Given the description of an element on the screen output the (x, y) to click on. 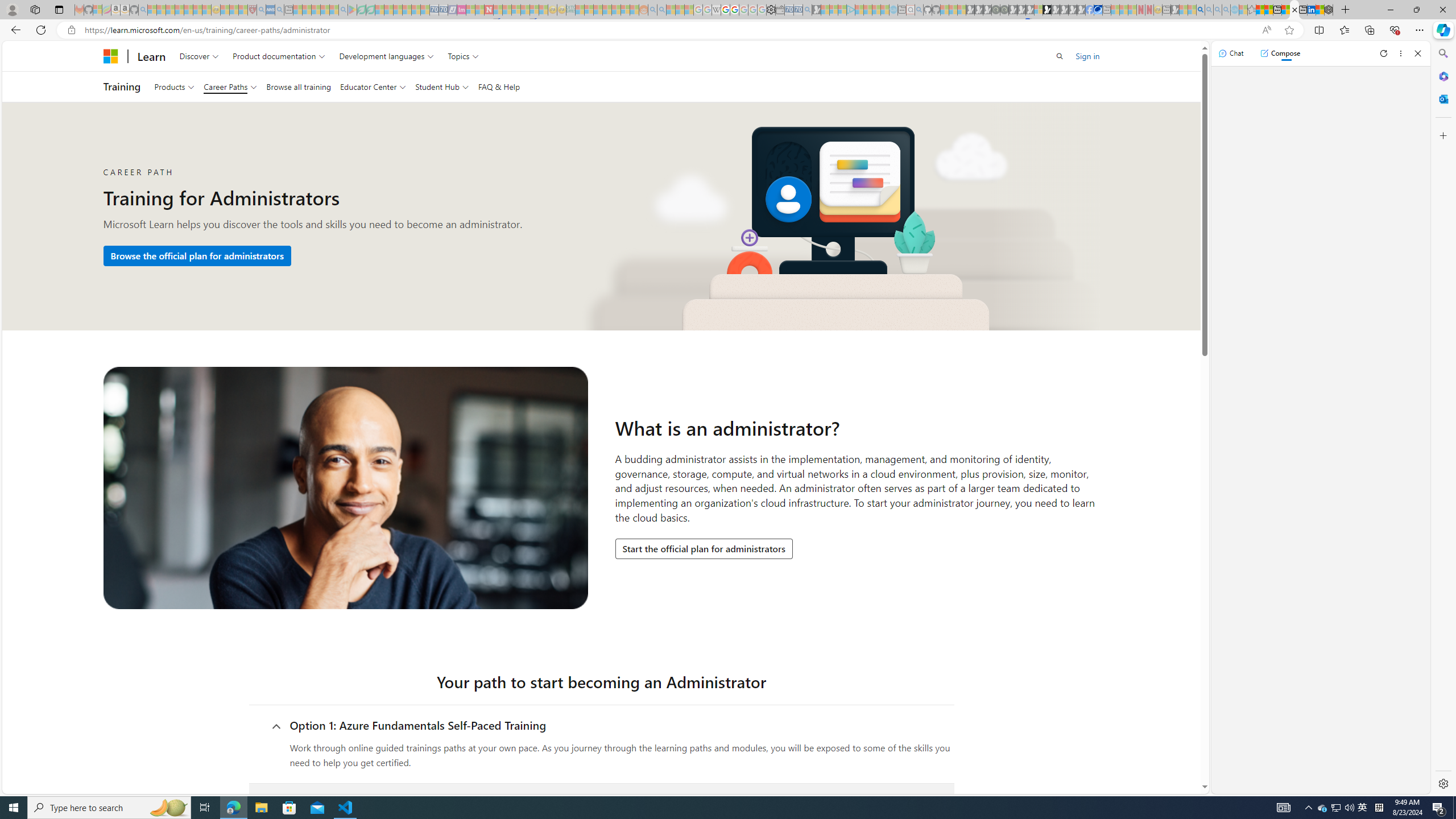
Close Outlook pane (1442, 98)
Wallet - Sleeping (779, 9)
Expert Portfolios - Sleeping (606, 9)
Home | Sky Blue Bikes - Sky Blue Bikes - Sleeping (892, 9)
Product documentation (278, 55)
